Given the description of an element on the screen output the (x, y) to click on. 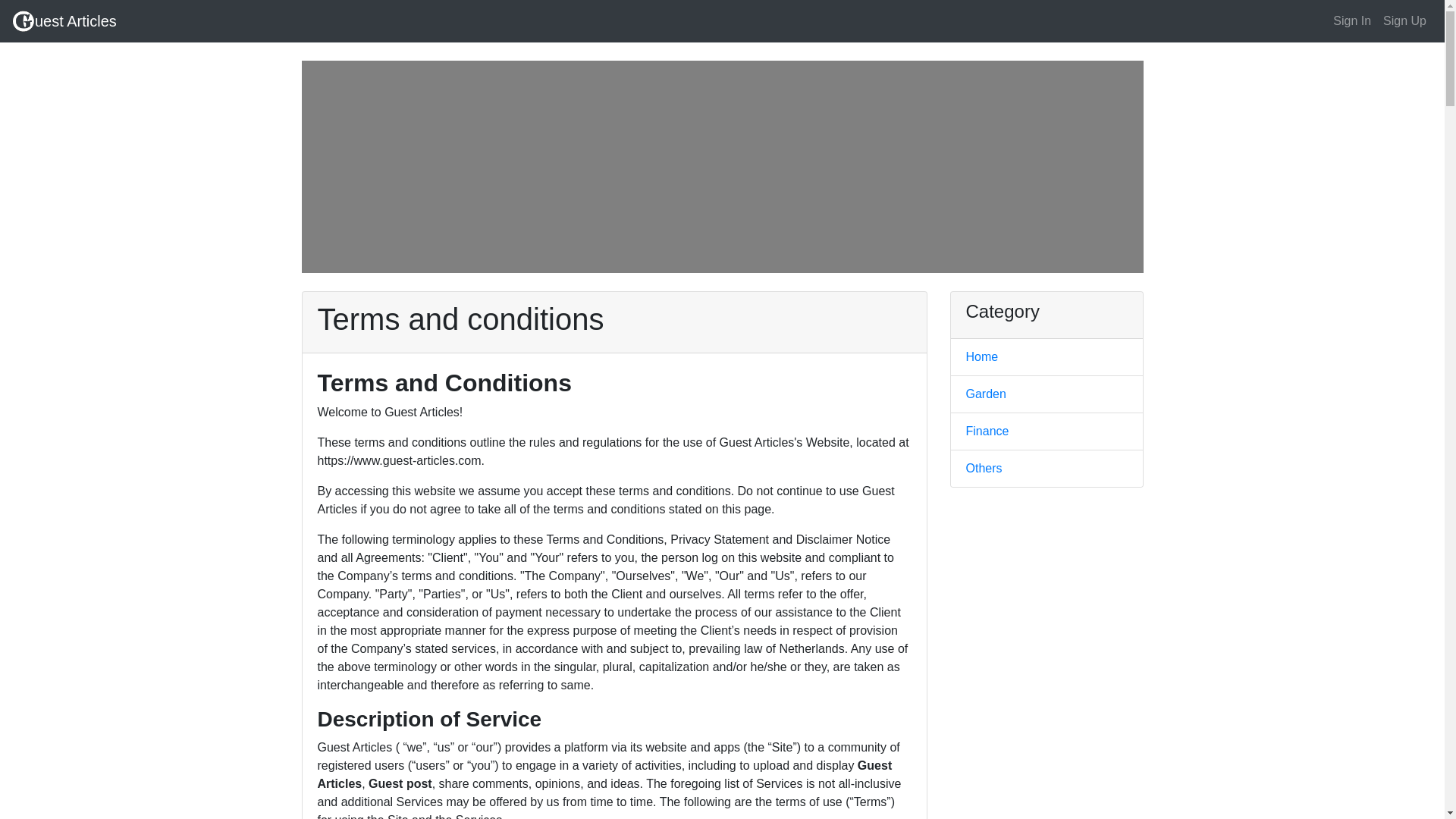
Garden (986, 393)
Sign Up (1404, 20)
uest Articles (63, 20)
Home (982, 356)
Finance (987, 431)
Others (984, 468)
